Given the description of an element on the screen output the (x, y) to click on. 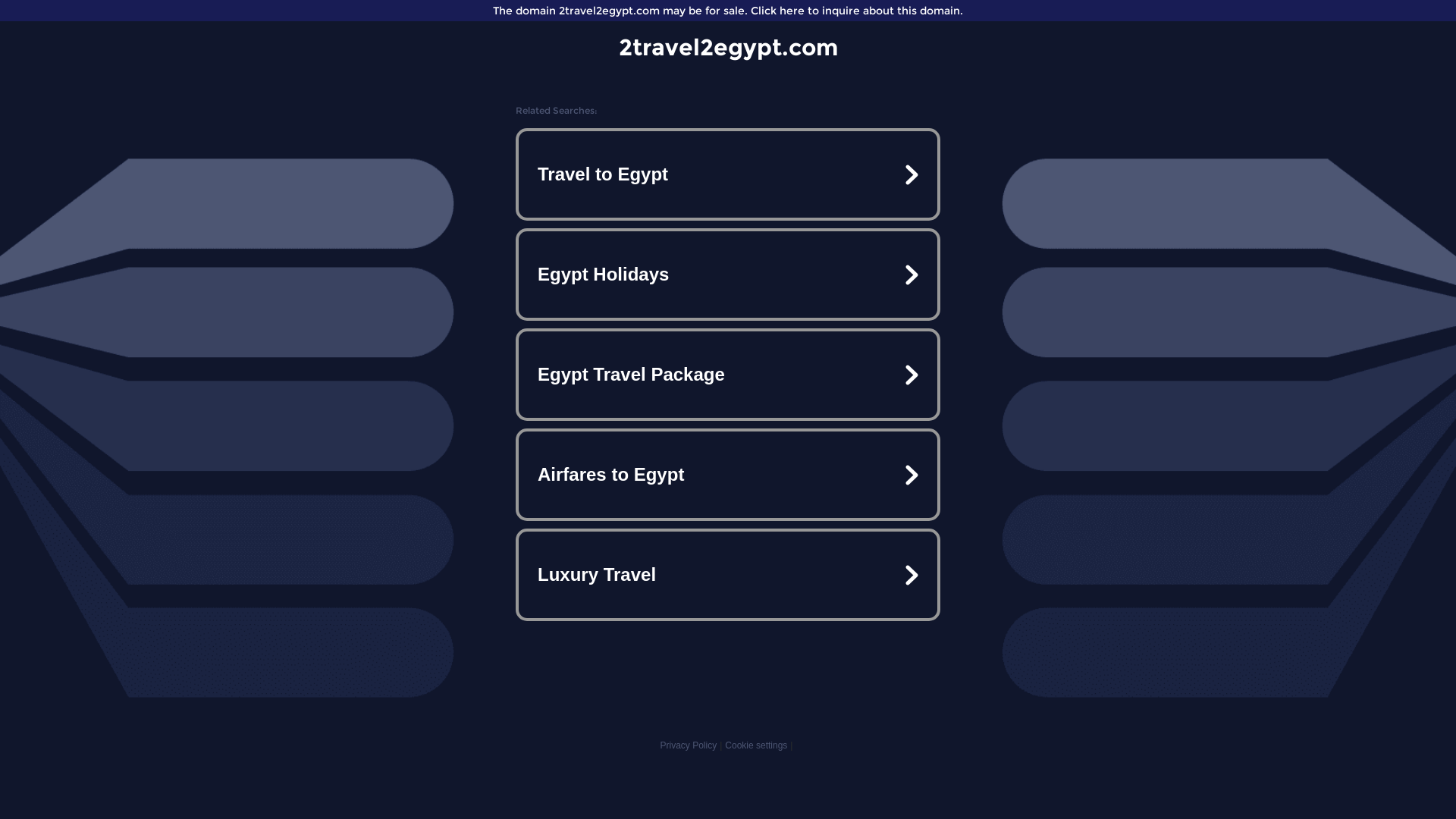
Airfares to Egypt Element type: text (727, 474)
Egypt Travel Package Element type: text (727, 374)
Cookie settings Element type: text (755, 745)
2travel2egypt.com Element type: text (727, 47)
Egypt Holidays Element type: text (727, 274)
Travel to Egypt Element type: text (727, 174)
Luxury Travel Element type: text (727, 574)
Privacy Policy Element type: text (687, 745)
